Given the description of an element on the screen output the (x, y) to click on. 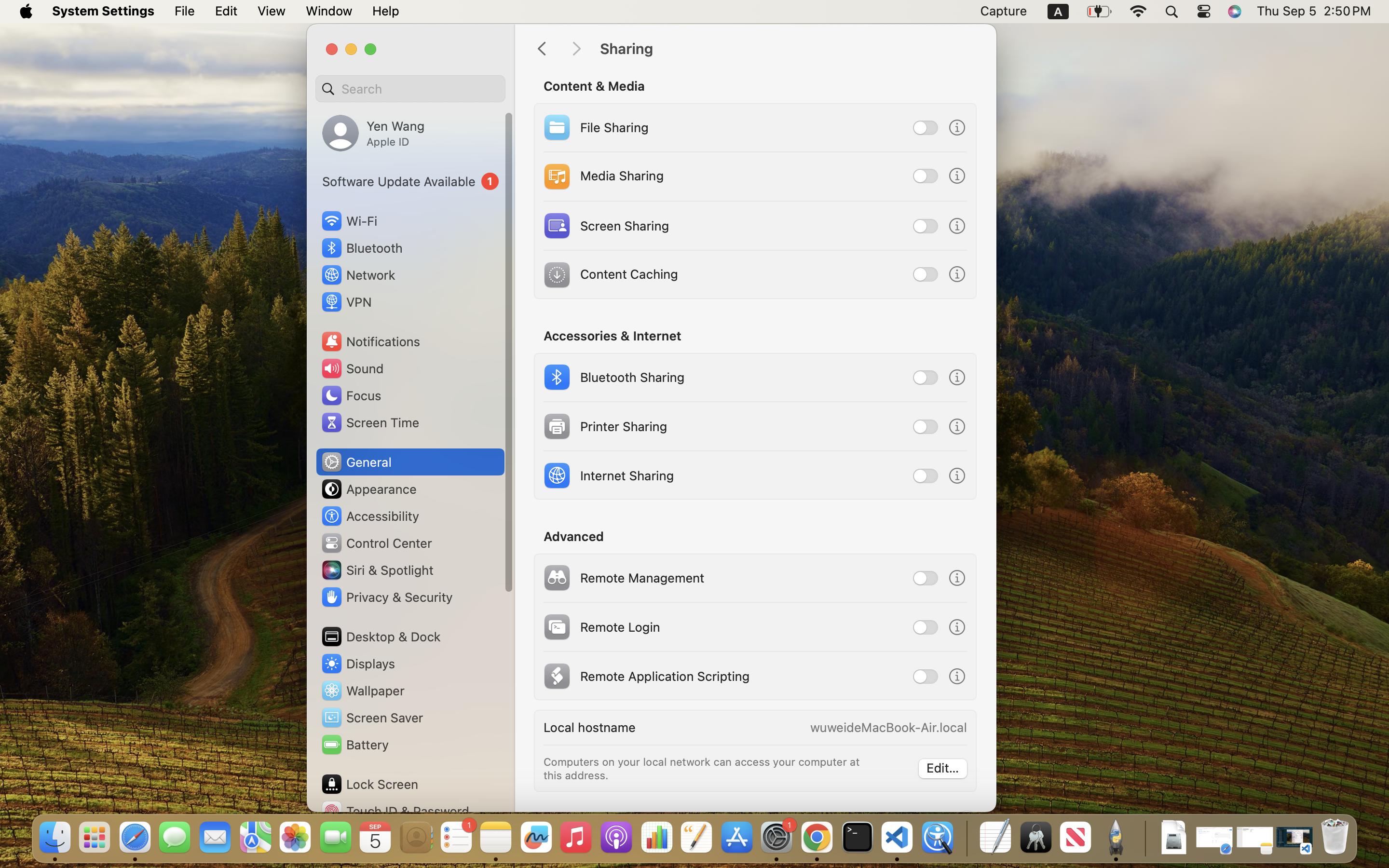
Appearance Element type: AXStaticText (368, 488)
Yen Wang, Apple ID Element type: AXStaticText (373, 132)
Printer Sharing Element type: AXStaticText (603, 425)
Desktop & Dock Element type: AXStaticText (380, 636)
